Given the description of an element on the screen output the (x, y) to click on. 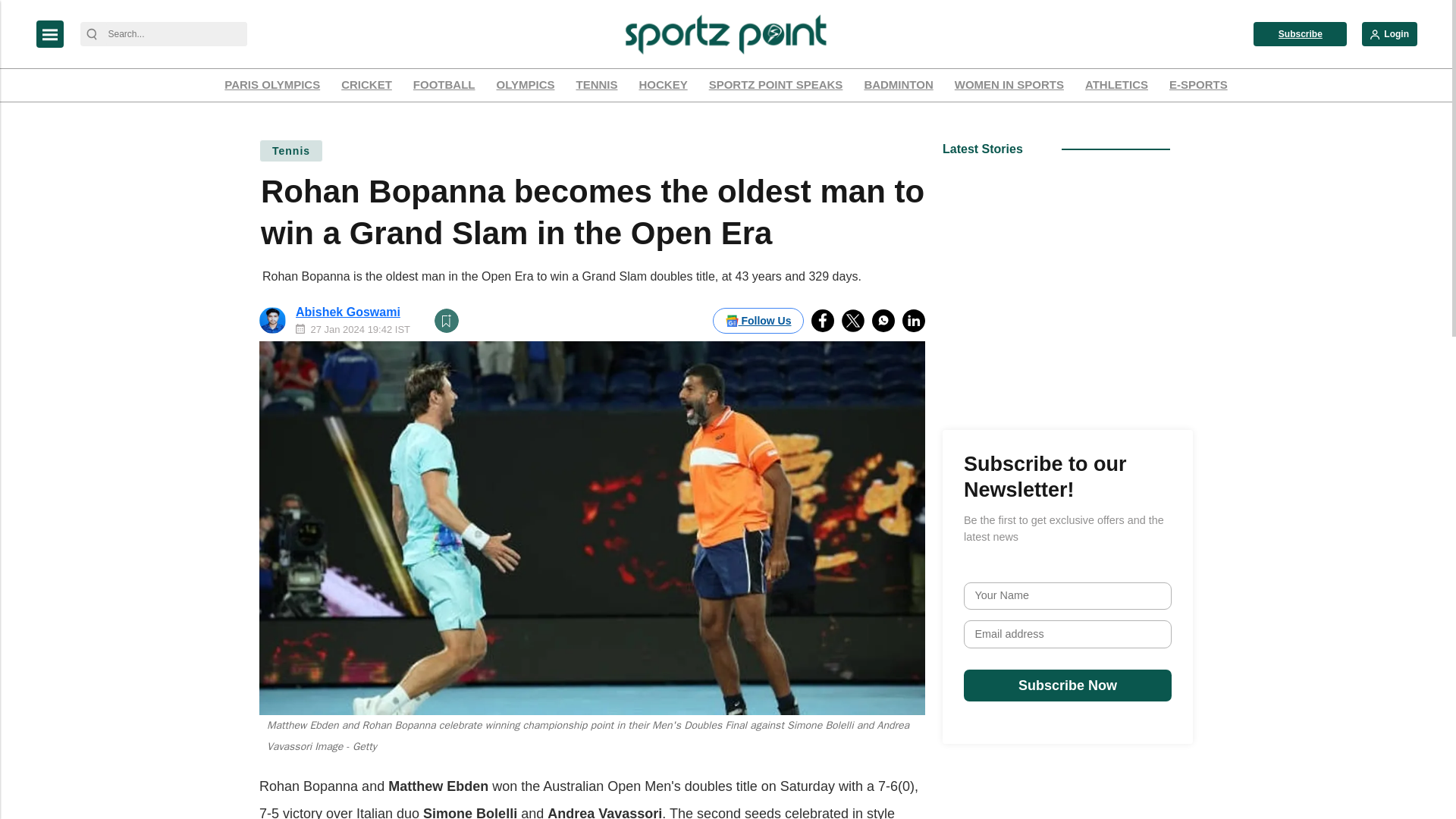
BADMINTON (898, 84)
OLYMPICS (526, 84)
FOOTBALL (443, 84)
HOCKEY (663, 84)
Subscribe (1299, 33)
SPORTZ POINT SPEAKS (775, 84)
E-SPORTS (1198, 84)
WOMEN IN SPORTS (1008, 84)
ATHLETICS (1116, 84)
Abishek Goswami (347, 311)
Login (1388, 33)
Follow Us (758, 320)
PARIS OLYMPICS (271, 84)
Tennis (291, 150)
TENNIS (596, 84)
